Given the description of an element on the screen output the (x, y) to click on. 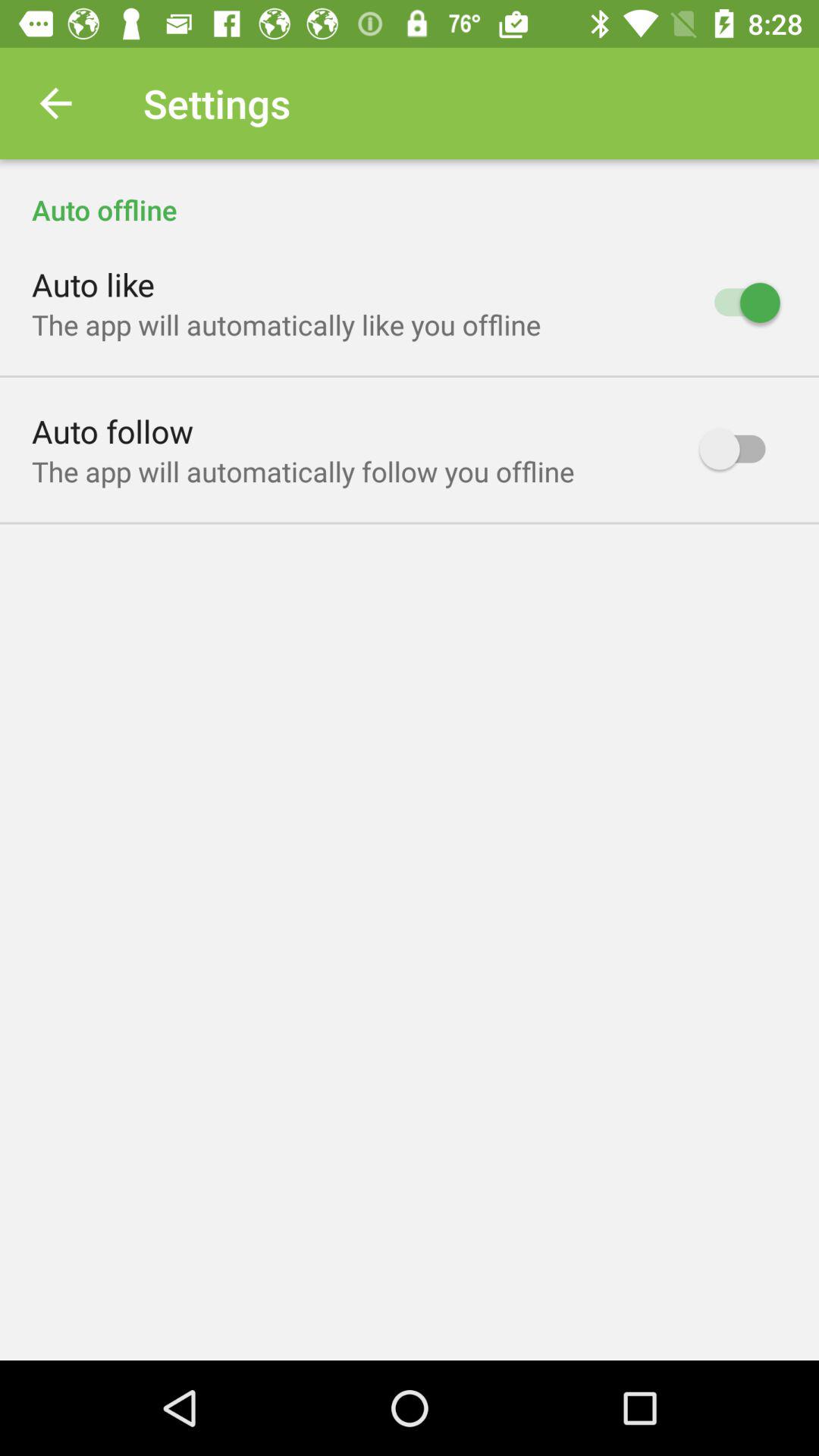
press the icon below the auto offline icon (92, 283)
